Given the description of an element on the screen output the (x, y) to click on. 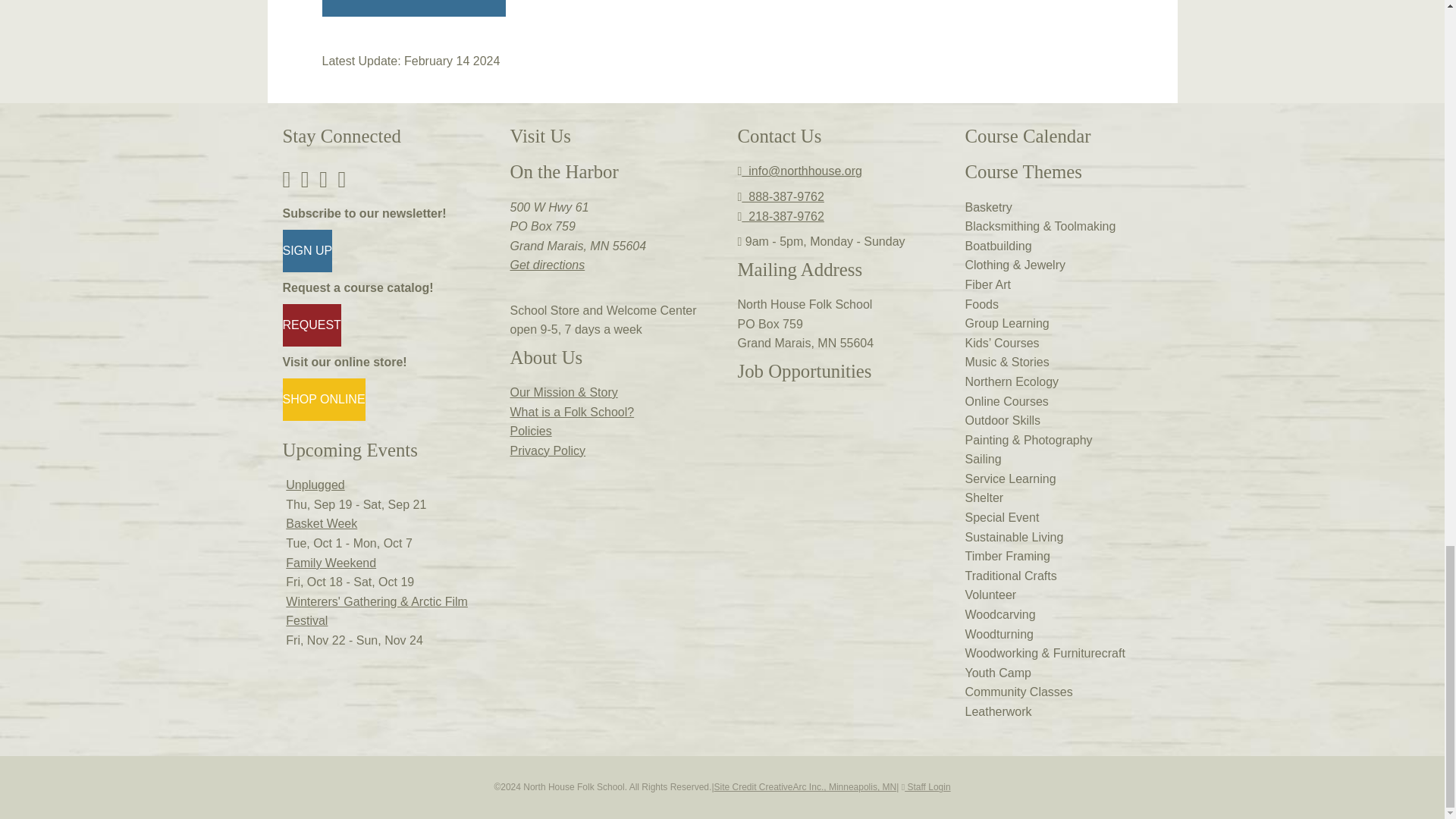
View event details for Unplugged (314, 484)
View event details for Basket Week (320, 522)
View event details for Family Weekend (330, 562)
